Given the description of an element on the screen output the (x, y) to click on. 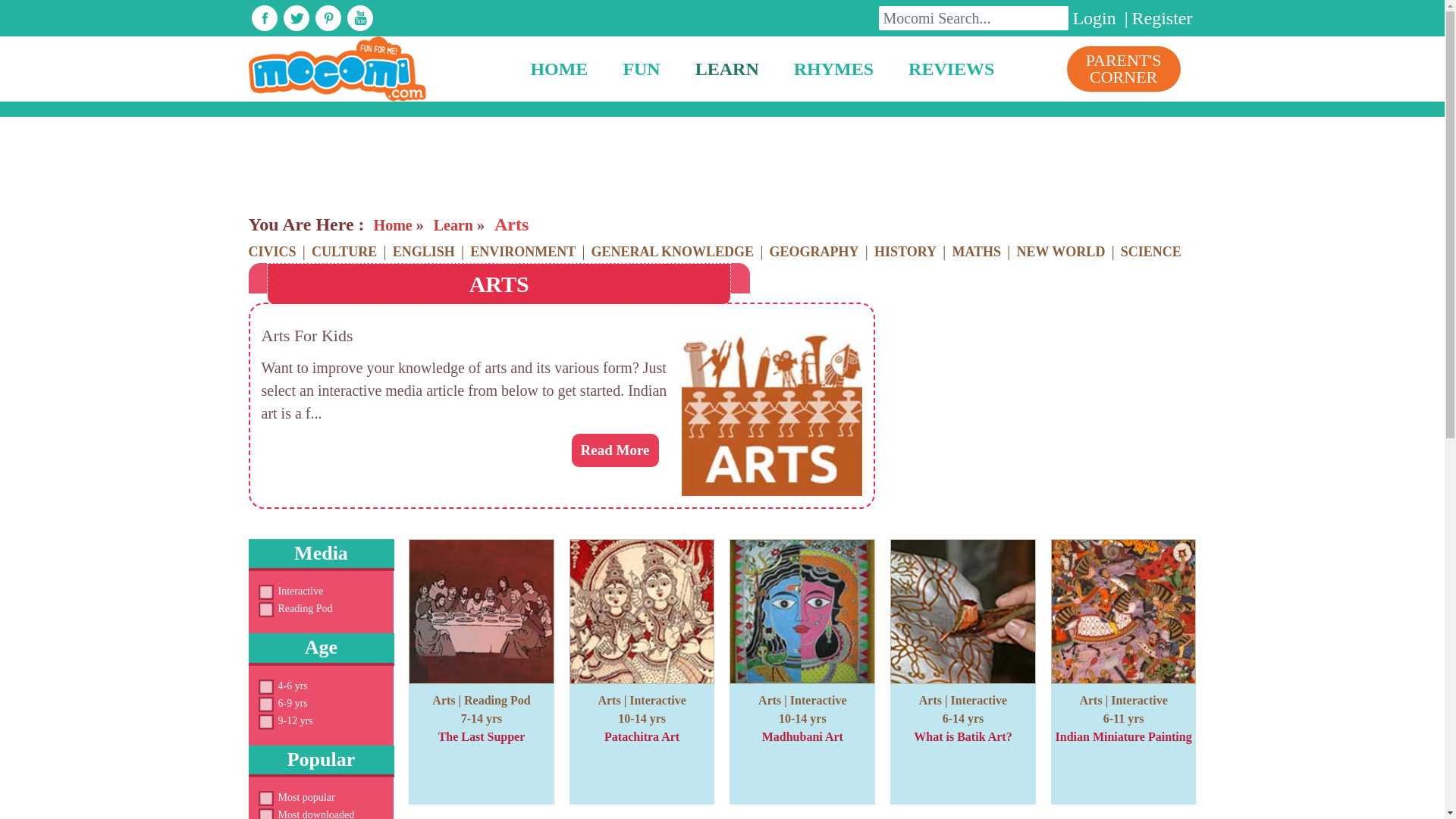
Science Category (1151, 251)
RHYMES (833, 68)
New World Category (1061, 251)
Culture Category (343, 251)
most-downloaded (264, 814)
Maths Category (975, 251)
HOME (558, 68)
History Category (904, 251)
365 (264, 609)
English Category (424, 251)
General Knowledge Category (672, 251)
FUN (641, 68)
most-popular (264, 798)
Login (1093, 17)
REVIEWS (951, 68)
